Given the description of an element on the screen output the (x, y) to click on. 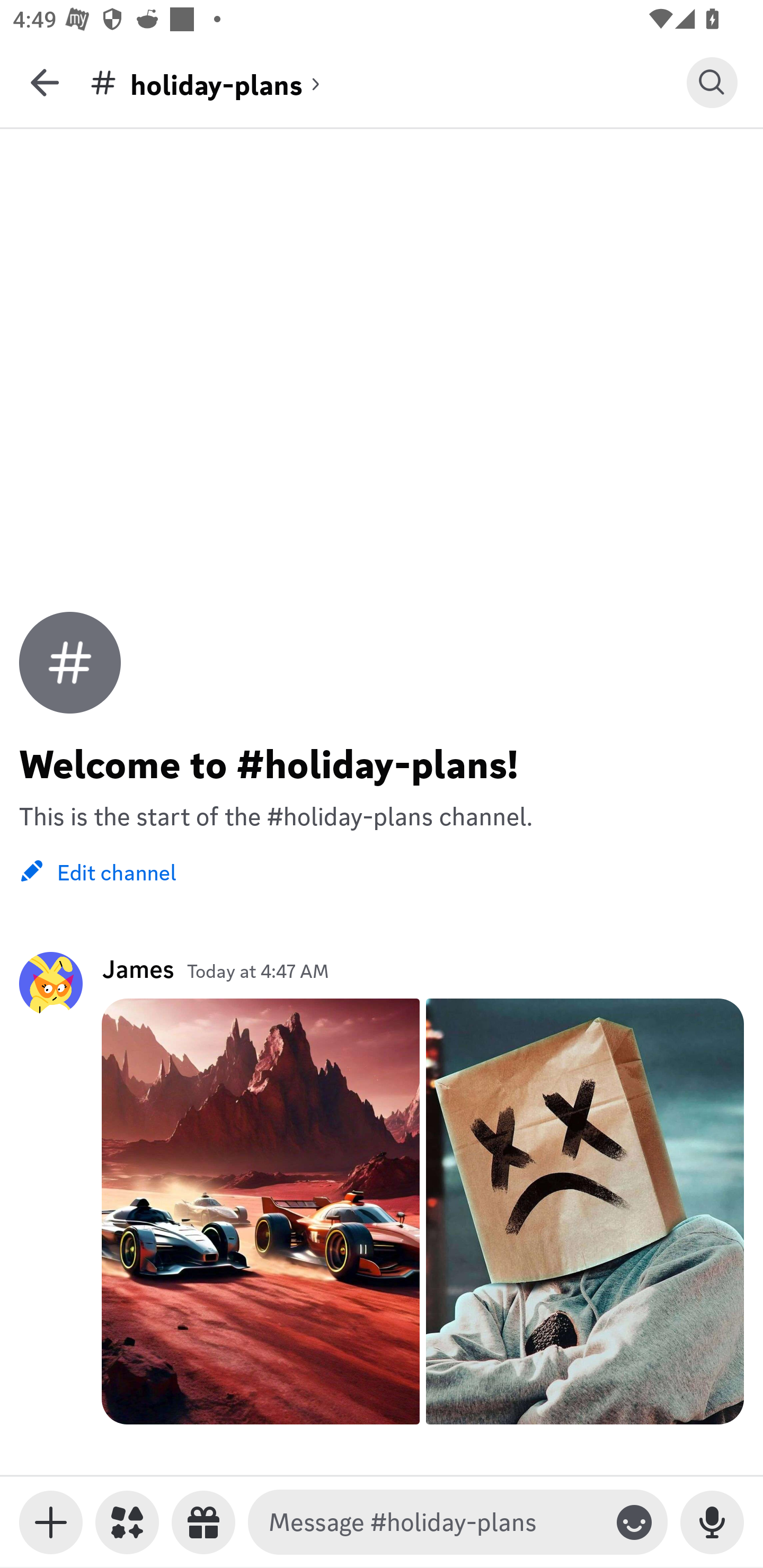
Back (44, 82)
Search (711, 82)
Edit channel (97, 870)
James (137, 968)
Message #holiday-plans Toggle emoji keyboard (457, 1522)
Toggle media keyboard (50, 1522)
Apps (126, 1522)
Send a gift (203, 1522)
Record Voice Message (711, 1522)
Toggle emoji keyboard (634, 1522)
